Given the description of an element on the screen output the (x, y) to click on. 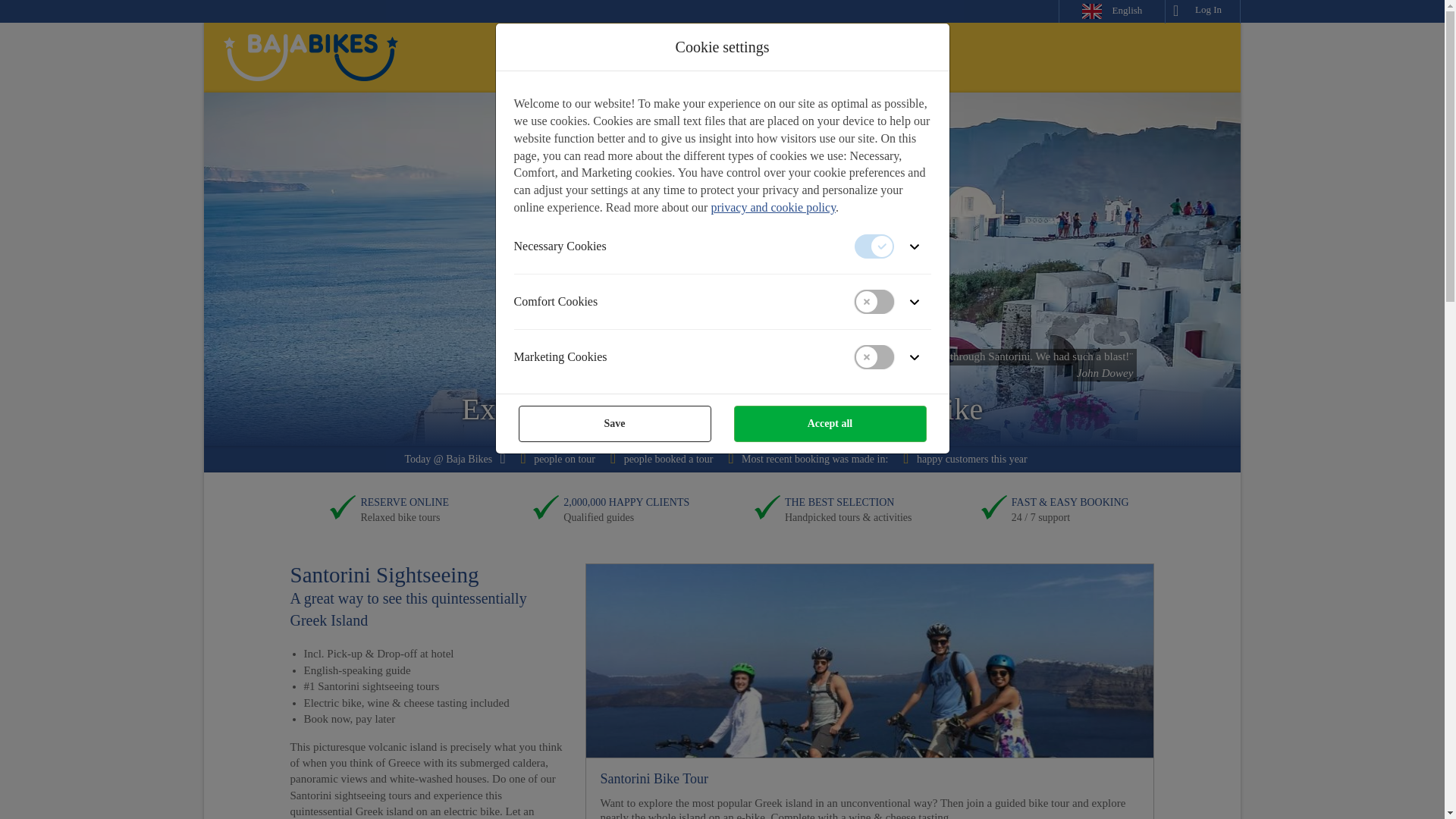
Santorini Bike Tour (869, 660)
Save (614, 423)
English (1111, 11)
privacy and cookie policy (772, 206)
Accept all (829, 423)
Destinations (545, 57)
